Given the description of an element on the screen output the (x, y) to click on. 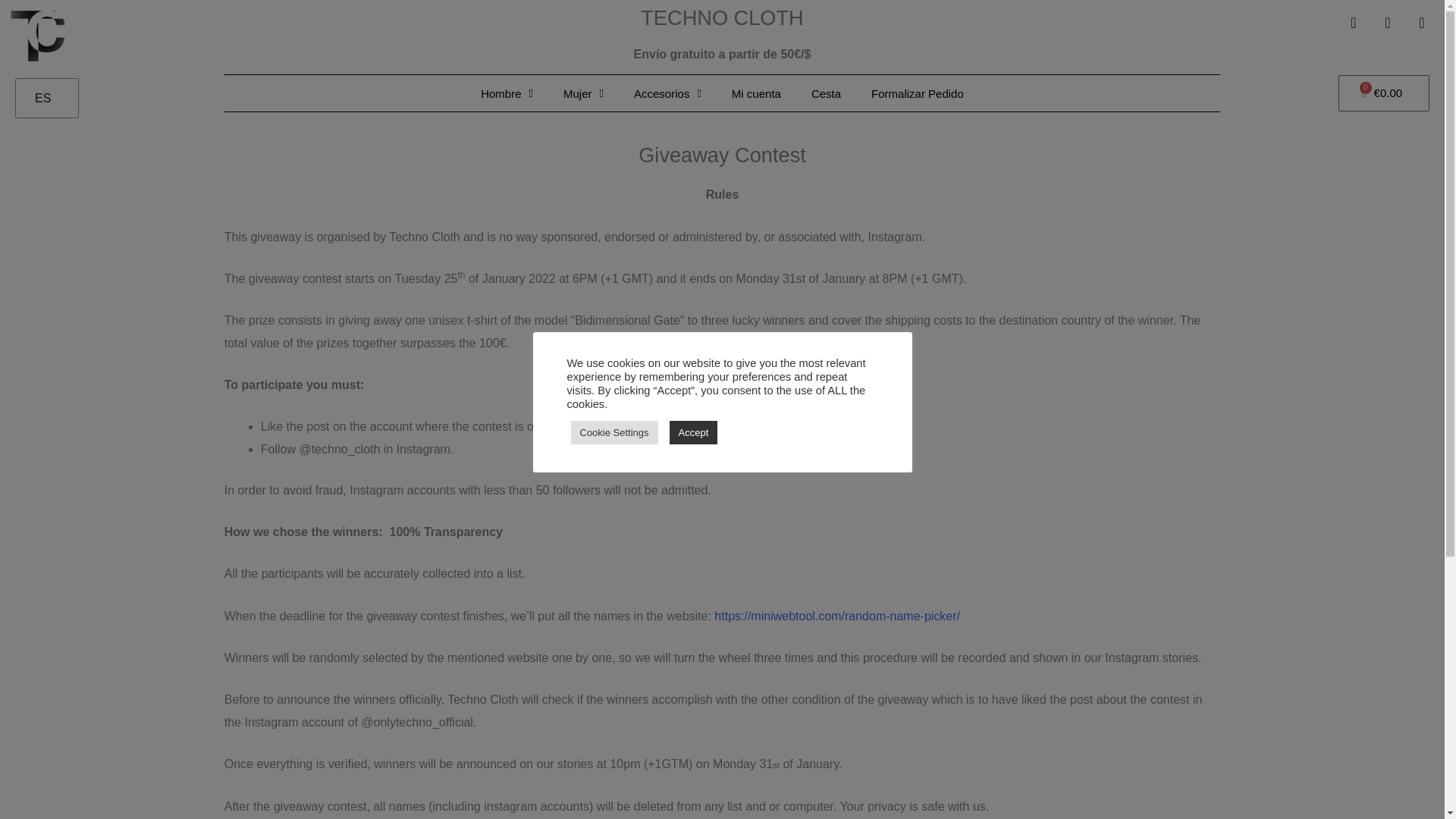
Accesorios (667, 93)
Hombre (506, 93)
ES (44, 98)
Formalizar Pedido (917, 93)
Mujer (583, 93)
Mi cuenta (756, 93)
Cesta (826, 93)
